Given the description of an element on the screen output the (x, y) to click on. 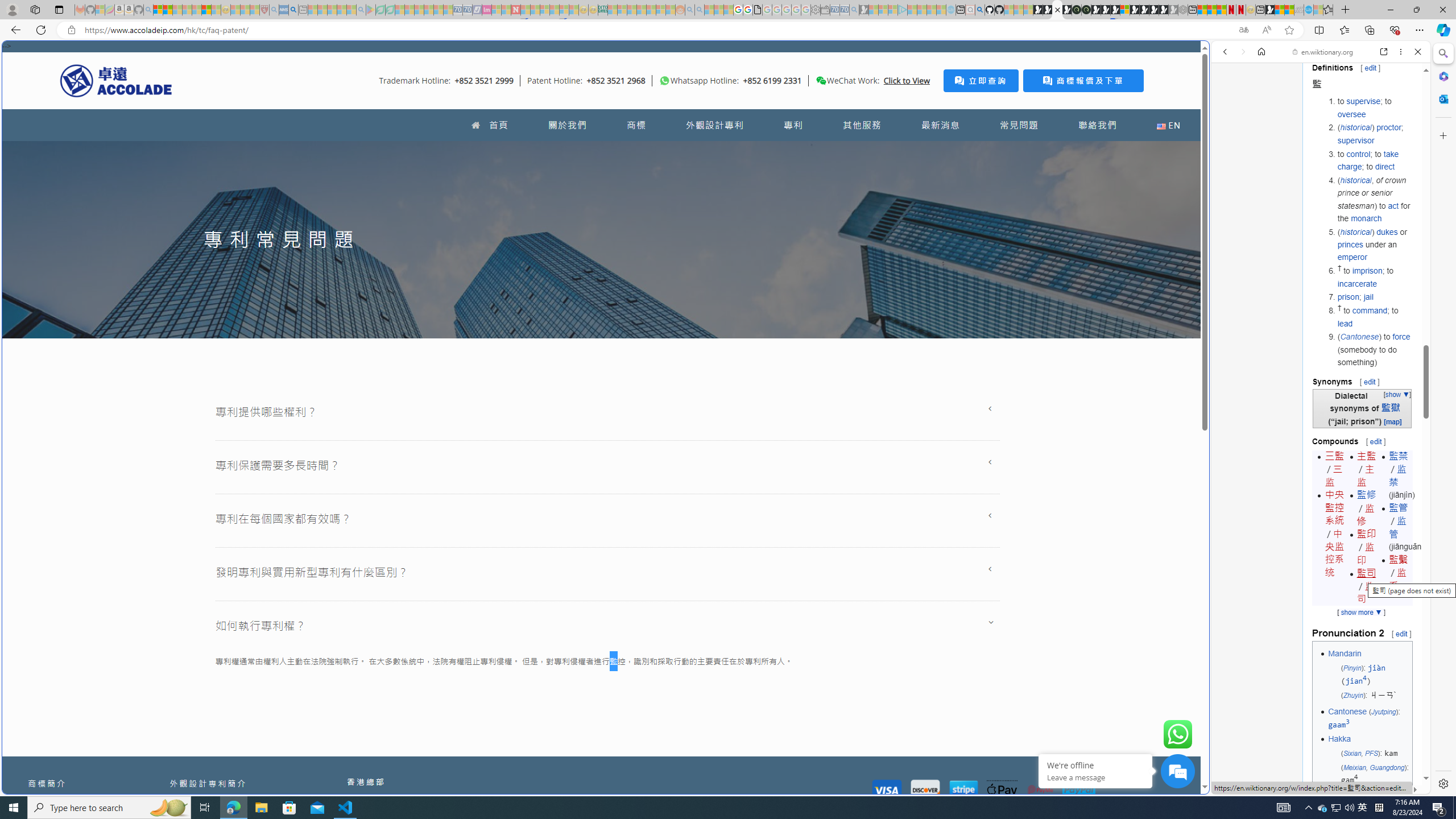
historical (1355, 231)
Class: b_serphb (1404, 130)
en.wiktionary.org (1323, 51)
Actions for this site (1370, 583)
World - MSN (1279, 9)
Trusted Community Engagement and Contributions | Guidelines (525, 9)
New tab (727, 683)
github - Search (979, 9)
proctor (1387, 127)
incarcerate (1356, 283)
Close Customize pane (1442, 135)
Personal Profile (12, 9)
